Given the description of an element on the screen output the (x, y) to click on. 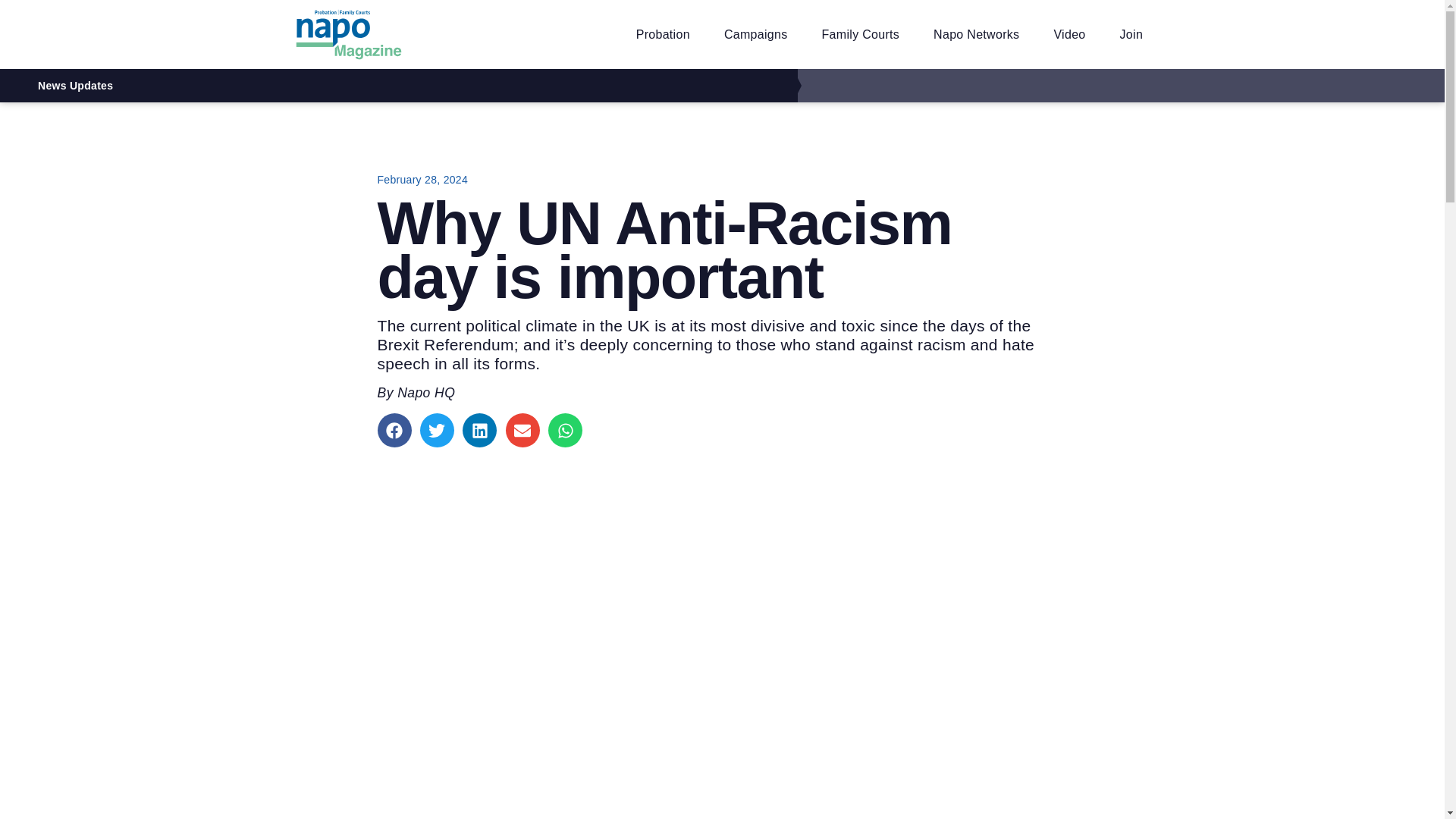
Join (1131, 34)
Probation (662, 34)
Campaigns (756, 34)
Family Courts (860, 34)
Video (1069, 34)
Napo Networks (975, 34)
